Given the description of an element on the screen output the (x, y) to click on. 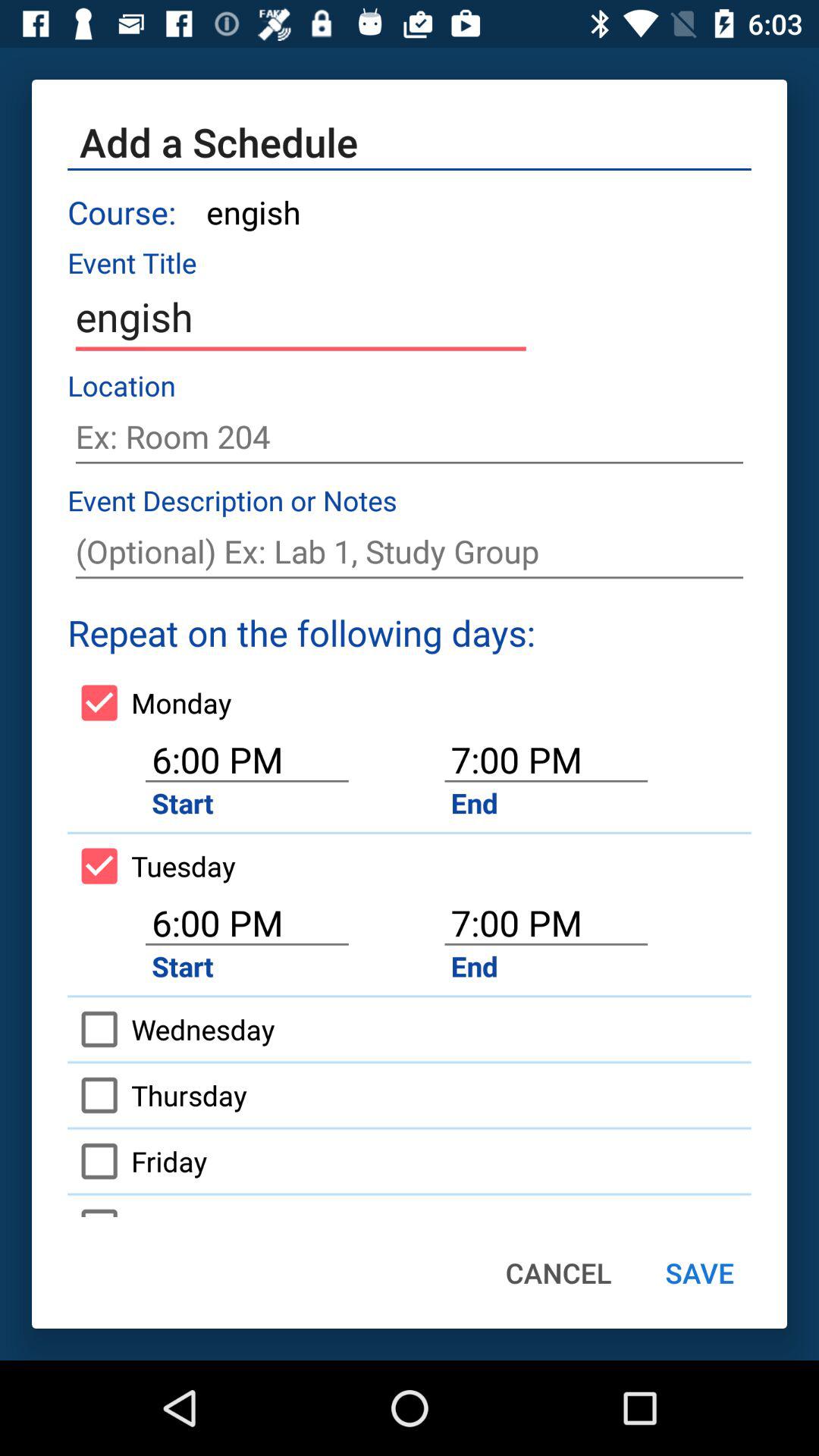
fill in box event description or notes (409, 551)
